Given the description of an element on the screen output the (x, y) to click on. 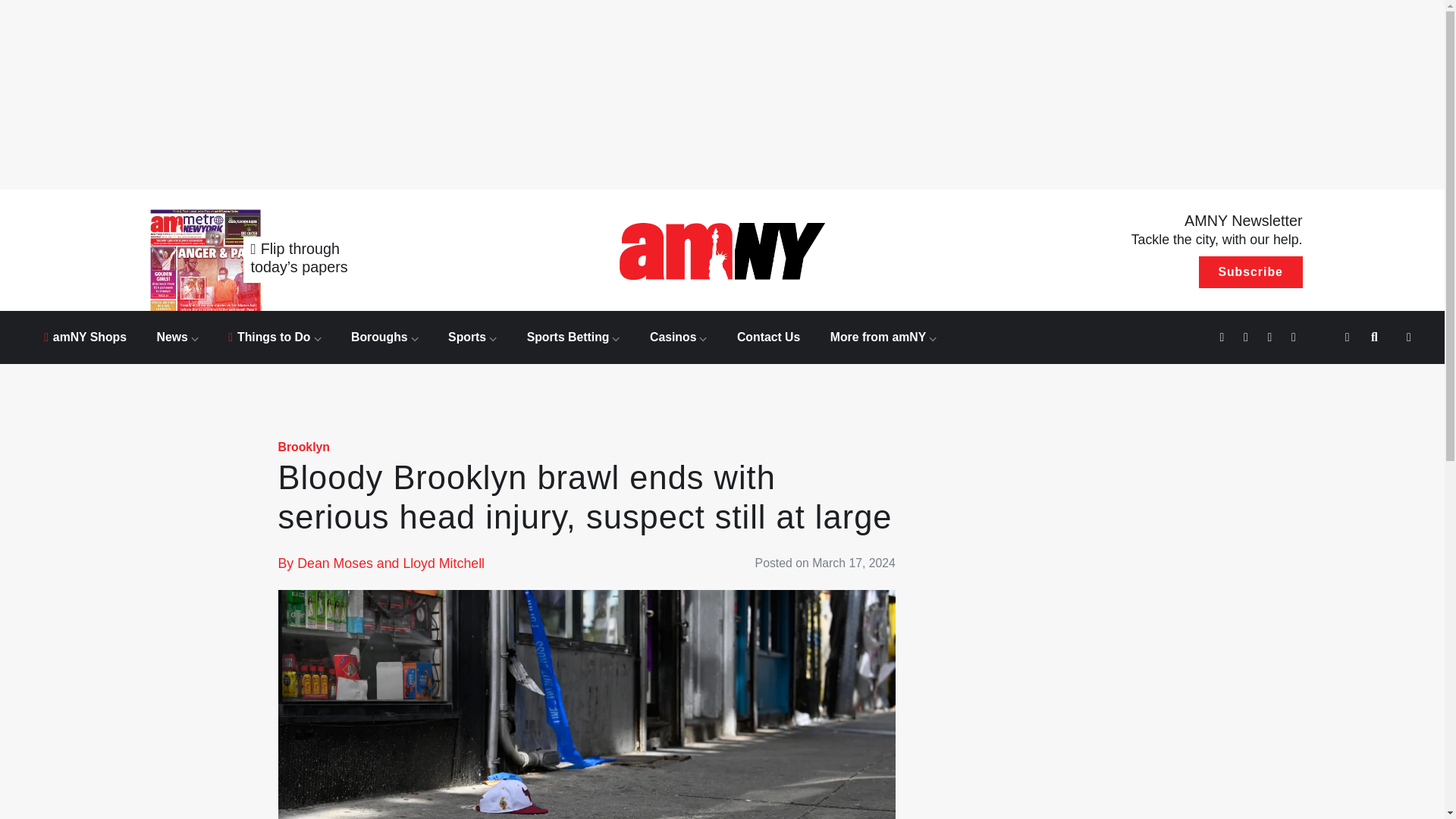
Sports (472, 336)
amNY Shops (84, 336)
Boroughs (384, 336)
Things to Do (274, 336)
News (176, 336)
Subscribe (1250, 272)
